Given the description of an element on the screen output the (x, y) to click on. 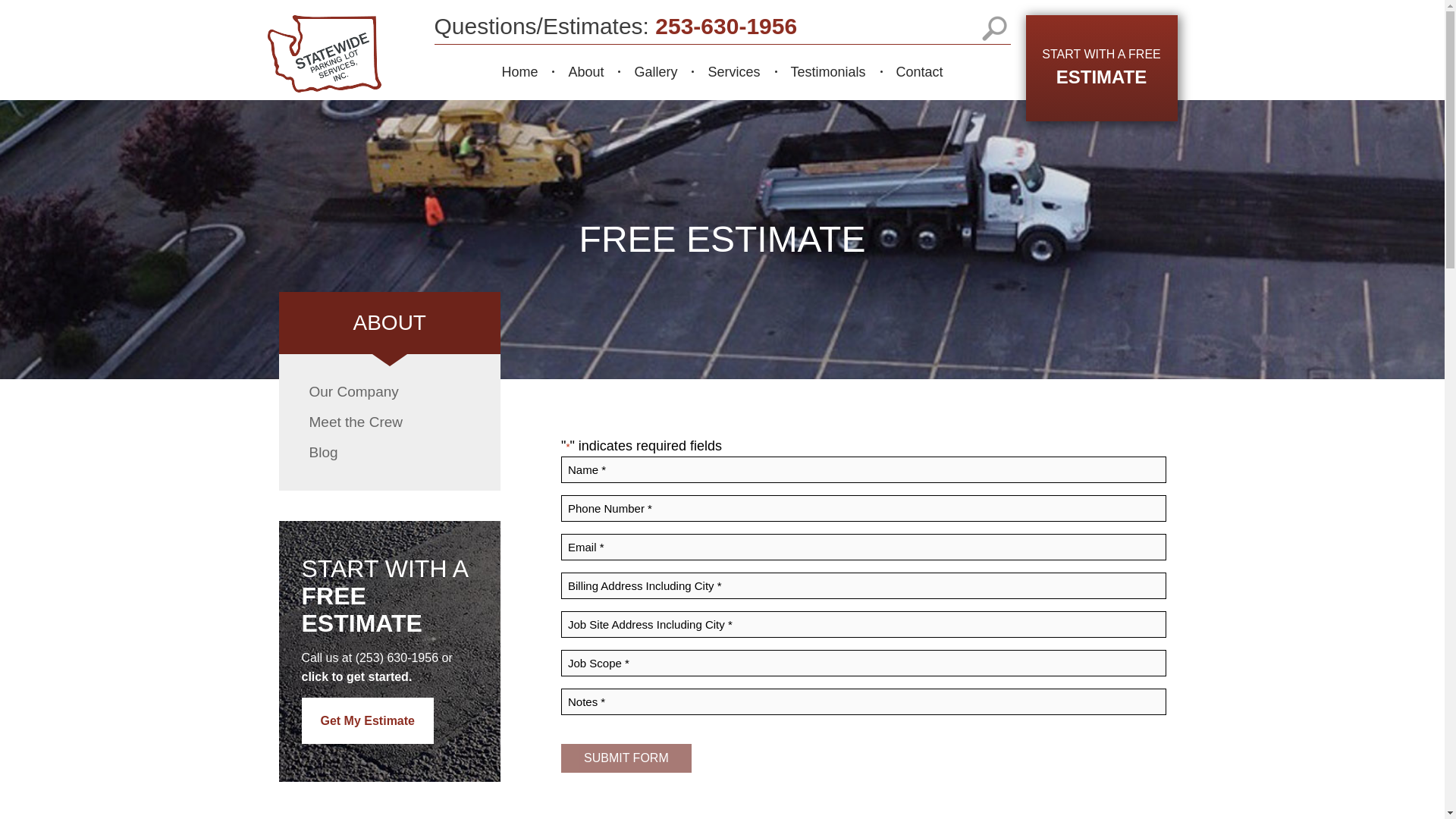
Services (733, 71)
Blog (390, 452)
SUBMIT FORM (625, 758)
Our Company (390, 391)
About (585, 71)
Home (519, 71)
Meet the Crew (390, 422)
Testimonials (827, 71)
SUBMIT FORM (1100, 68)
